Given the description of an element on the screen output the (x, y) to click on. 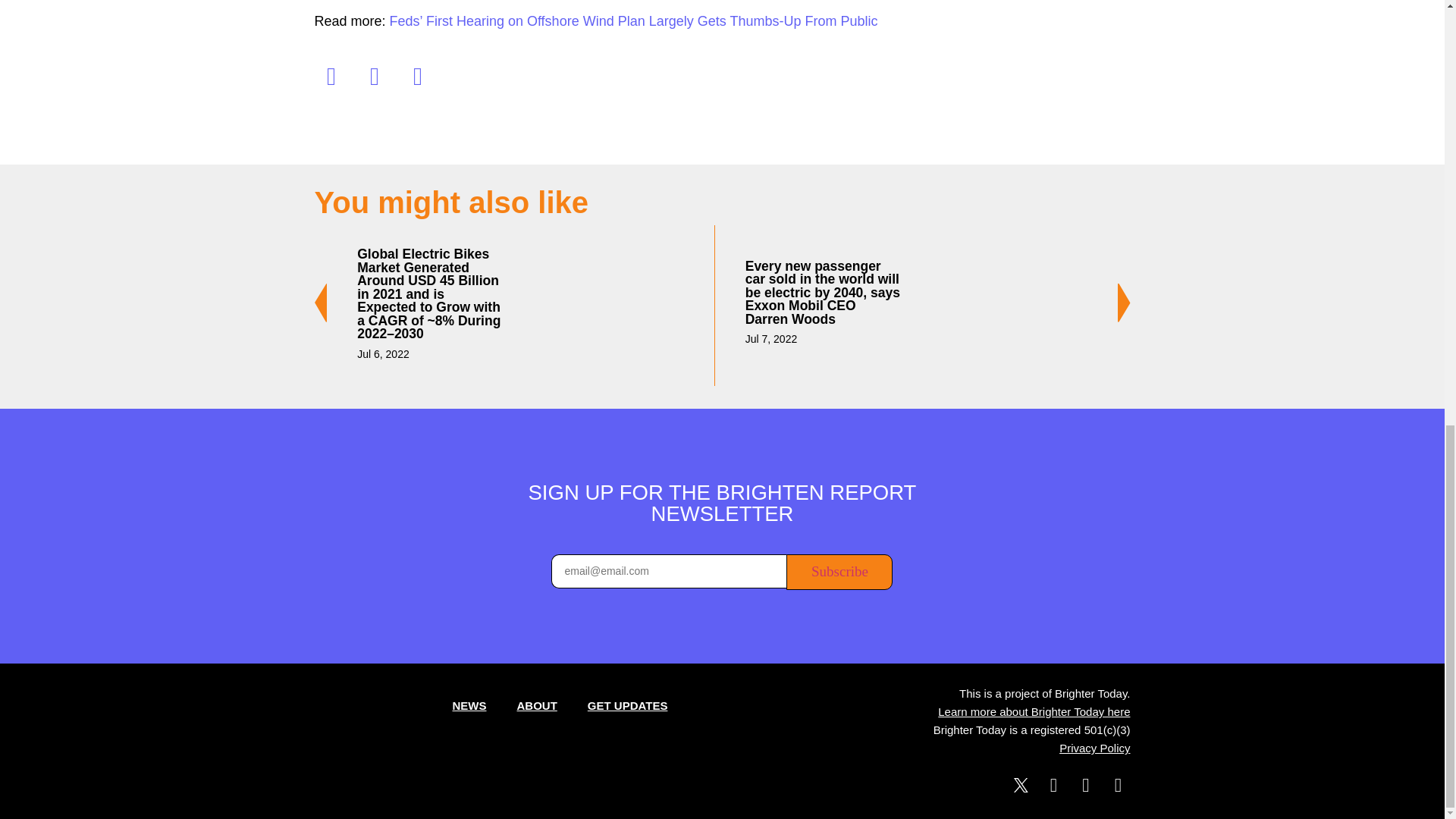
ABOUT (537, 705)
Subscribe (839, 571)
NEWS (468, 705)
